Given the description of an element on the screen output the (x, y) to click on. 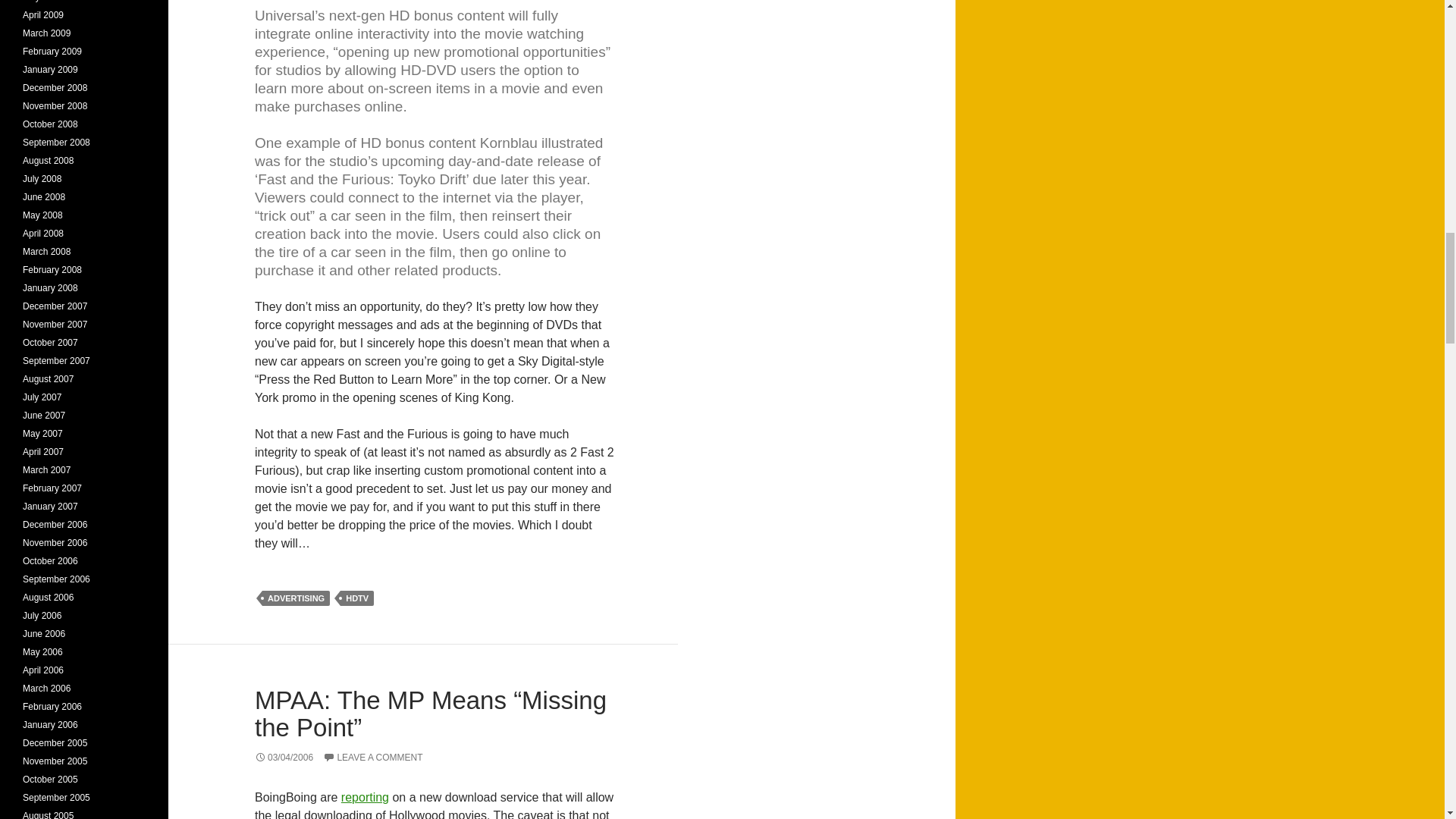
ADVERTISING (296, 598)
LEAVE A COMMENT (372, 757)
reporting (364, 797)
HDTV (357, 598)
